Given the description of an element on the screen output the (x, y) to click on. 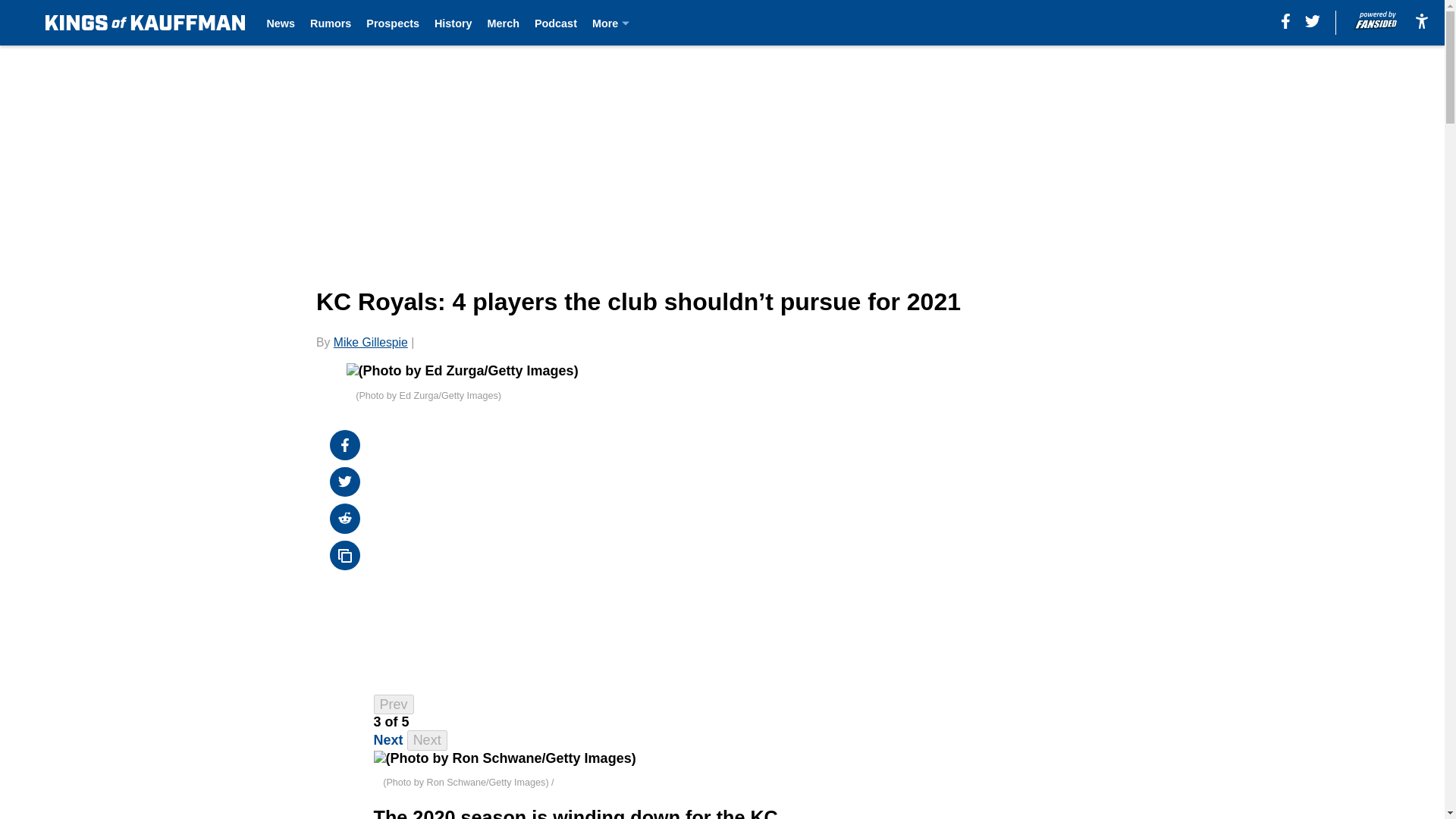
Next (426, 740)
Next (388, 739)
History (452, 23)
Prev (393, 704)
Prospects (392, 23)
Merch (503, 23)
News (280, 23)
Podcast (555, 23)
Mike Gillespie (370, 341)
Rumors (330, 23)
